Given the description of an element on the screen output the (x, y) to click on. 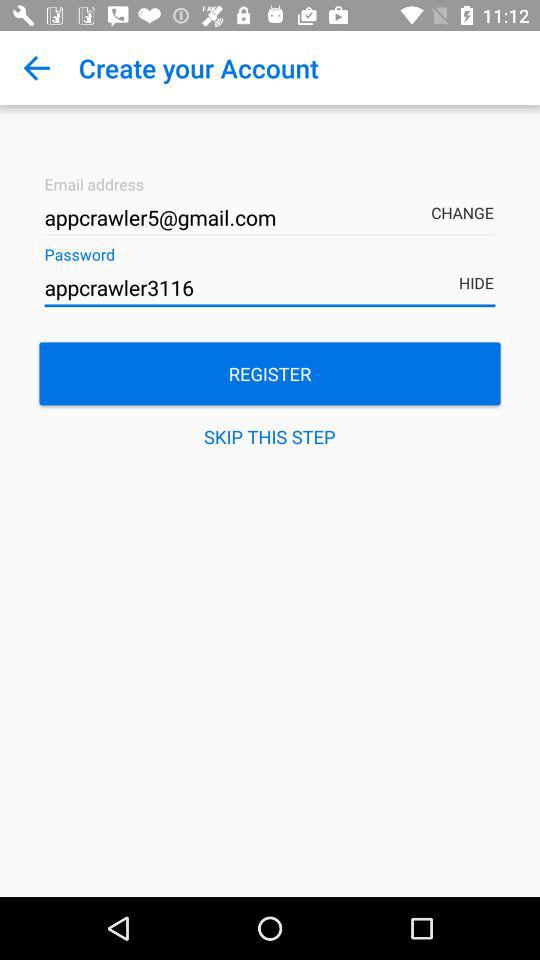
select appcrawler3116 item (269, 288)
